Given the description of an element on the screen output the (x, y) to click on. 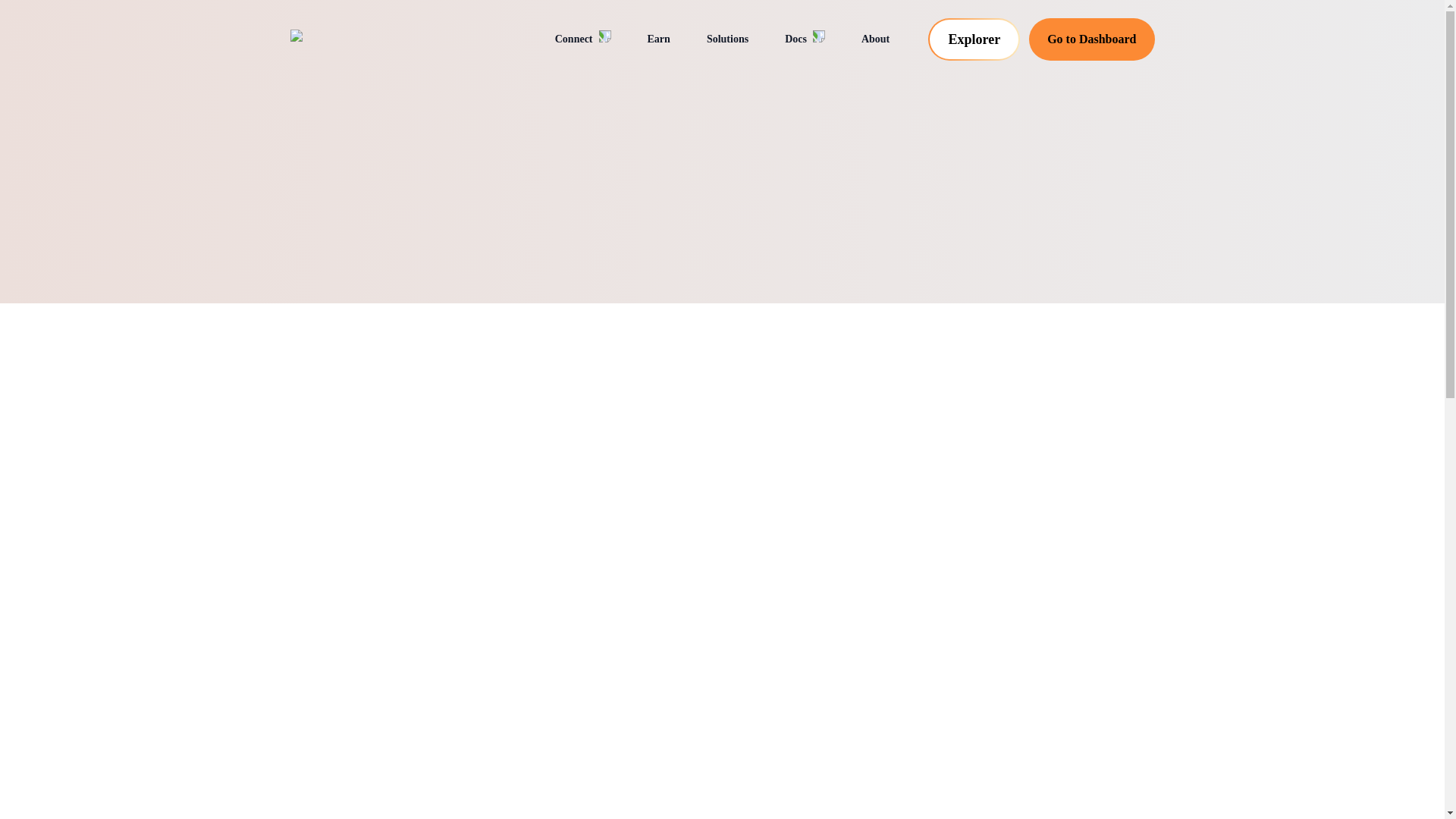
Docs (804, 39)
Go to Dashboard (1091, 39)
Karrier One (365, 39)
Solutions (727, 39)
Explorer (973, 38)
About (875, 39)
Connect (582, 39)
